Given the description of an element on the screen output the (x, y) to click on. 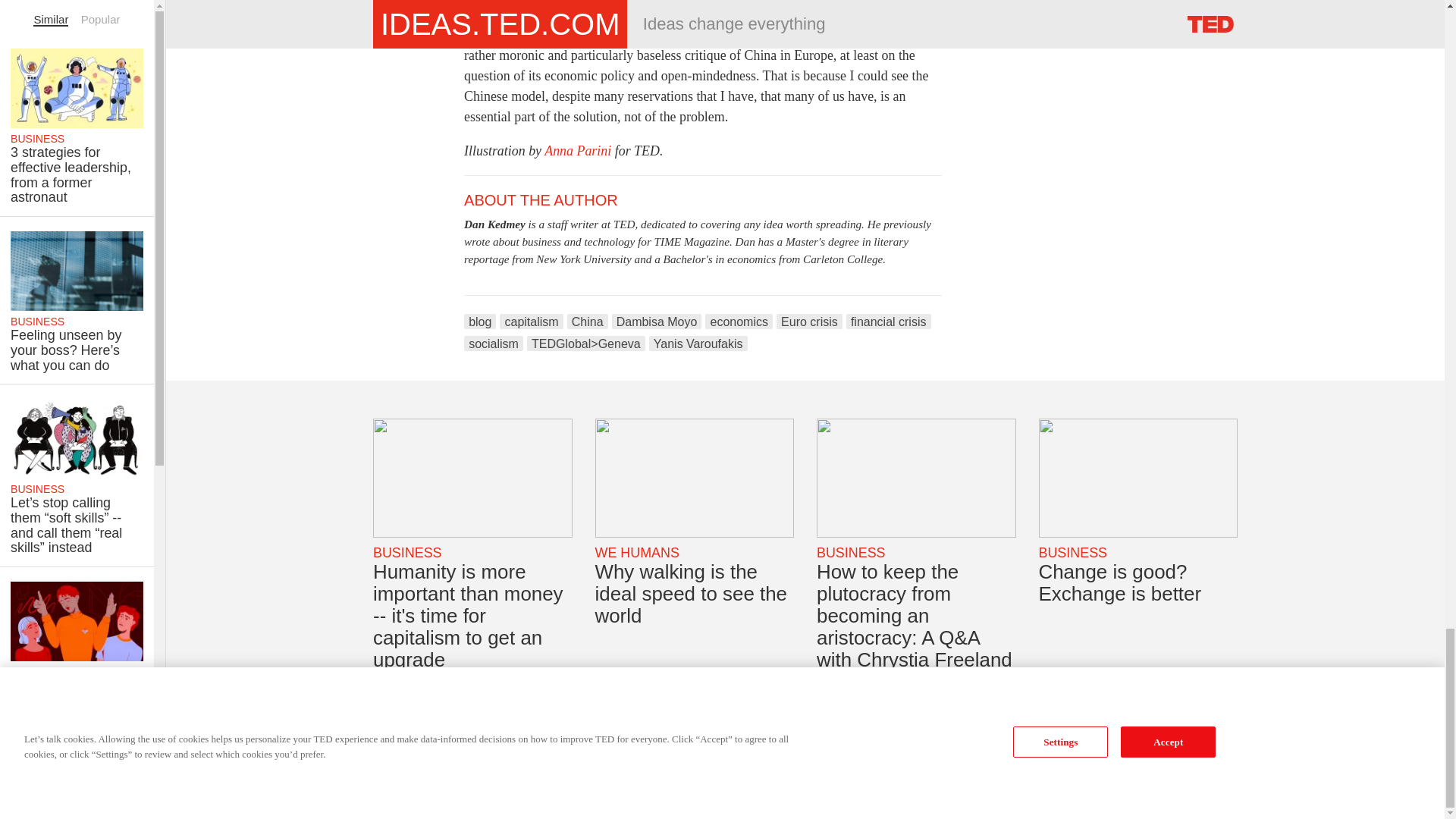
capitalism (530, 321)
blog (480, 321)
Anna Parini (579, 150)
economics (738, 321)
Euro crisis (809, 321)
China (587, 321)
give (653, 1)
Yanis Varoufakis (698, 343)
socialism (493, 343)
Dan Kedmey (494, 223)
financial crisis (888, 321)
Dambisa Moyo (656, 321)
